Given the description of an element on the screen output the (x, y) to click on. 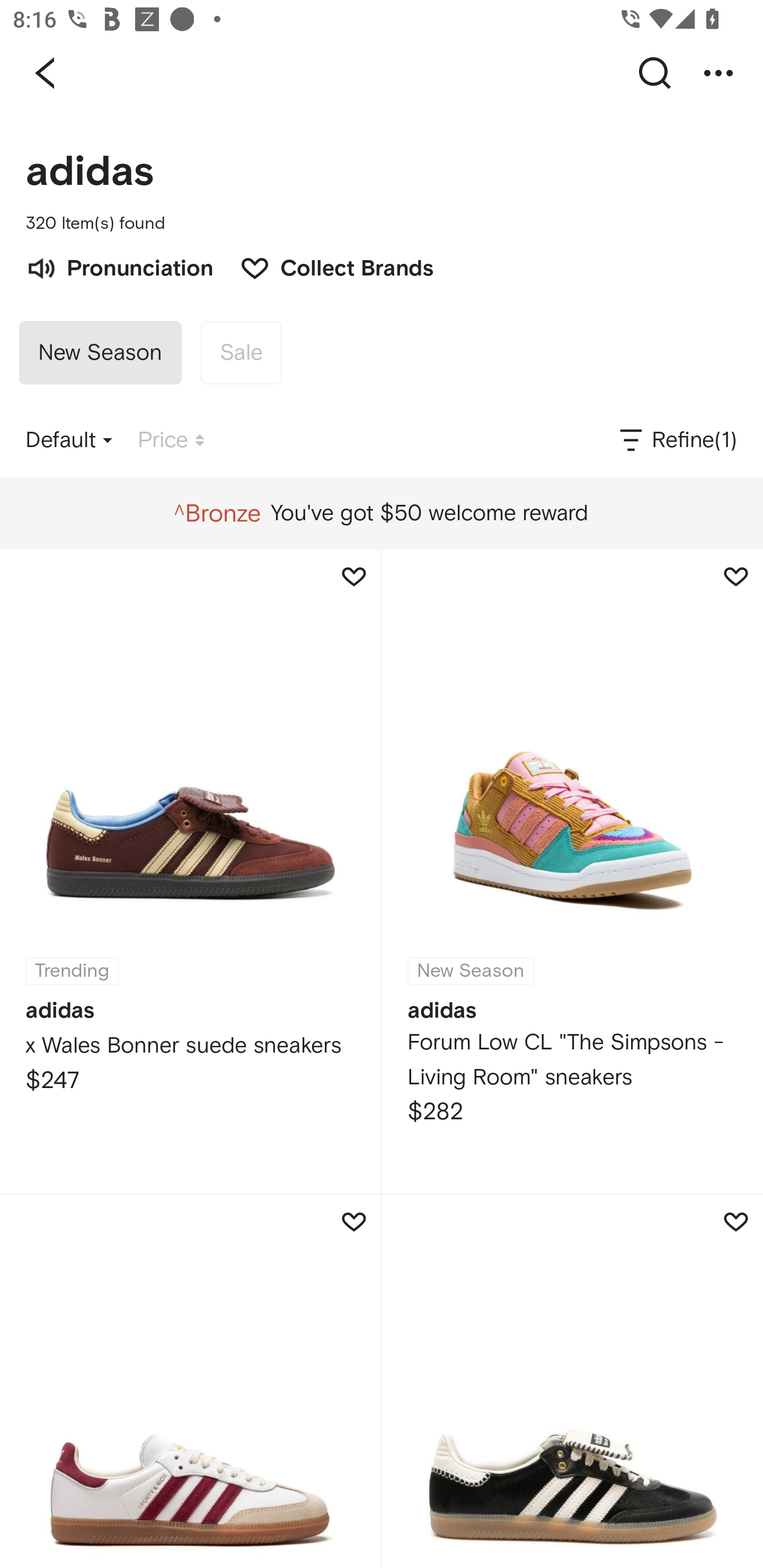
Pronunciation (119, 266)
Collect Brands (327, 266)
New Season (100, 352)
Sale (240, 352)
Default (68, 440)
Price (171, 440)
Refine(1) (677, 440)
You've got $50 welcome reward (381, 513)
Trending adidas x Wales Bonner suede sneakers $247 (190, 871)
